Given the description of an element on the screen output the (x, y) to click on. 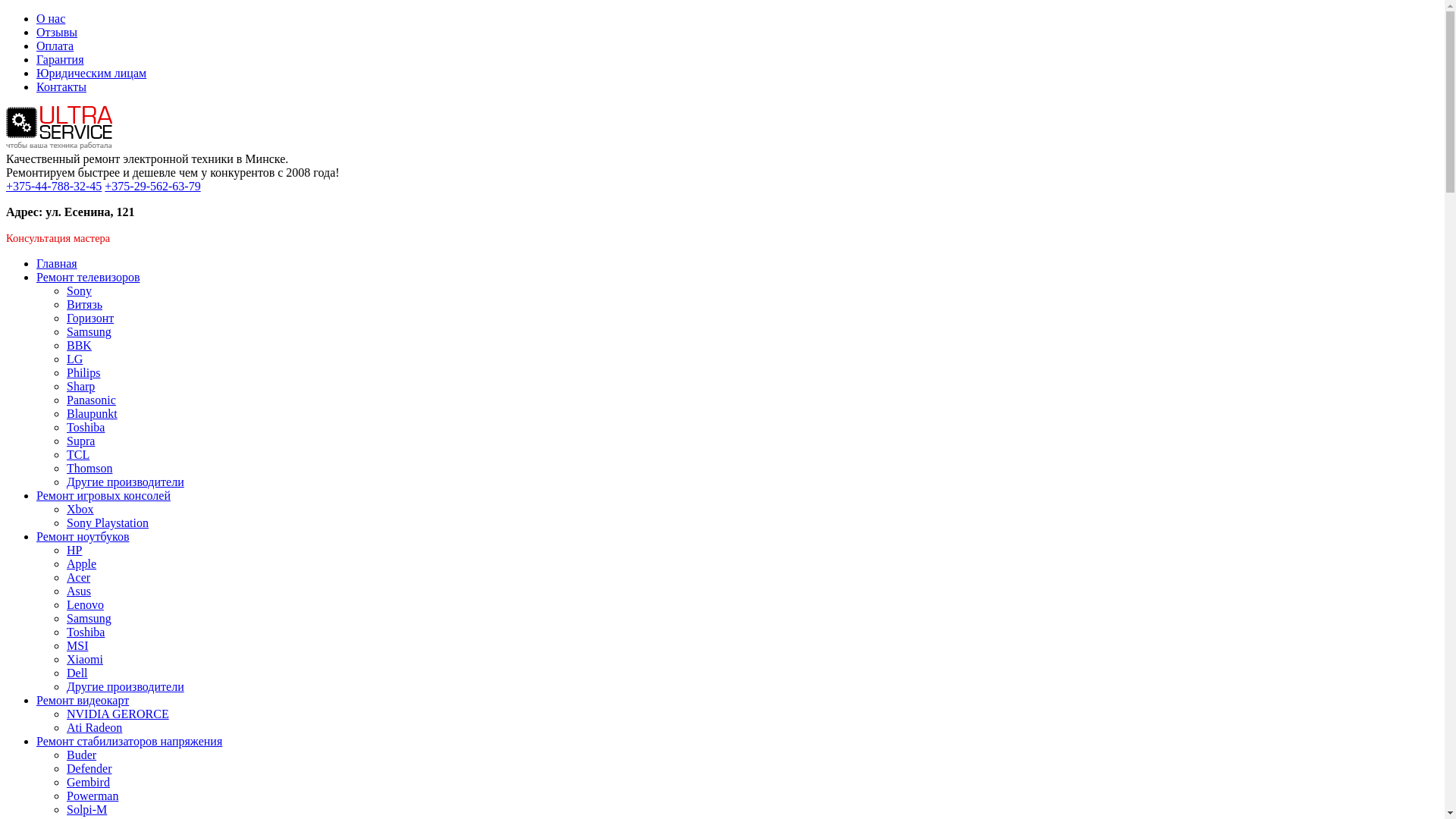
Apple Element type: text (81, 563)
Solpi-M Element type: text (86, 809)
Sony Element type: text (78, 290)
BBK Element type: text (78, 344)
Thomson Element type: text (89, 467)
Powerman Element type: text (92, 795)
Sony Playstation Element type: text (107, 522)
Asus Element type: text (78, 590)
TCL Element type: text (77, 454)
Sharp Element type: text (80, 385)
Samsung Element type: text (88, 617)
Dell Element type: text (76, 672)
NVIDIA GERORCE Element type: text (117, 713)
Gembird Element type: text (87, 781)
Blaupunkt Element type: text (91, 413)
Acer Element type: text (78, 577)
Toshiba Element type: text (85, 631)
Panasonic Element type: text (91, 399)
Supra Element type: text (80, 440)
MSI Element type: text (76, 645)
+375-44-788-32-45 Element type: text (53, 185)
Buder Element type: text (81, 754)
Philips Element type: text (83, 372)
Lenovo Element type: text (84, 604)
Defender Element type: text (89, 768)
LG Element type: text (74, 358)
Xbox Element type: text (80, 508)
HP Element type: text (73, 549)
Toshiba Element type: text (85, 426)
Samsung Element type: text (88, 331)
Xiaomi Element type: text (84, 658)
Ati Radeon Element type: text (94, 727)
+375-29-562-63-79 Element type: text (152, 185)
